Given the description of an element on the screen output the (x, y) to click on. 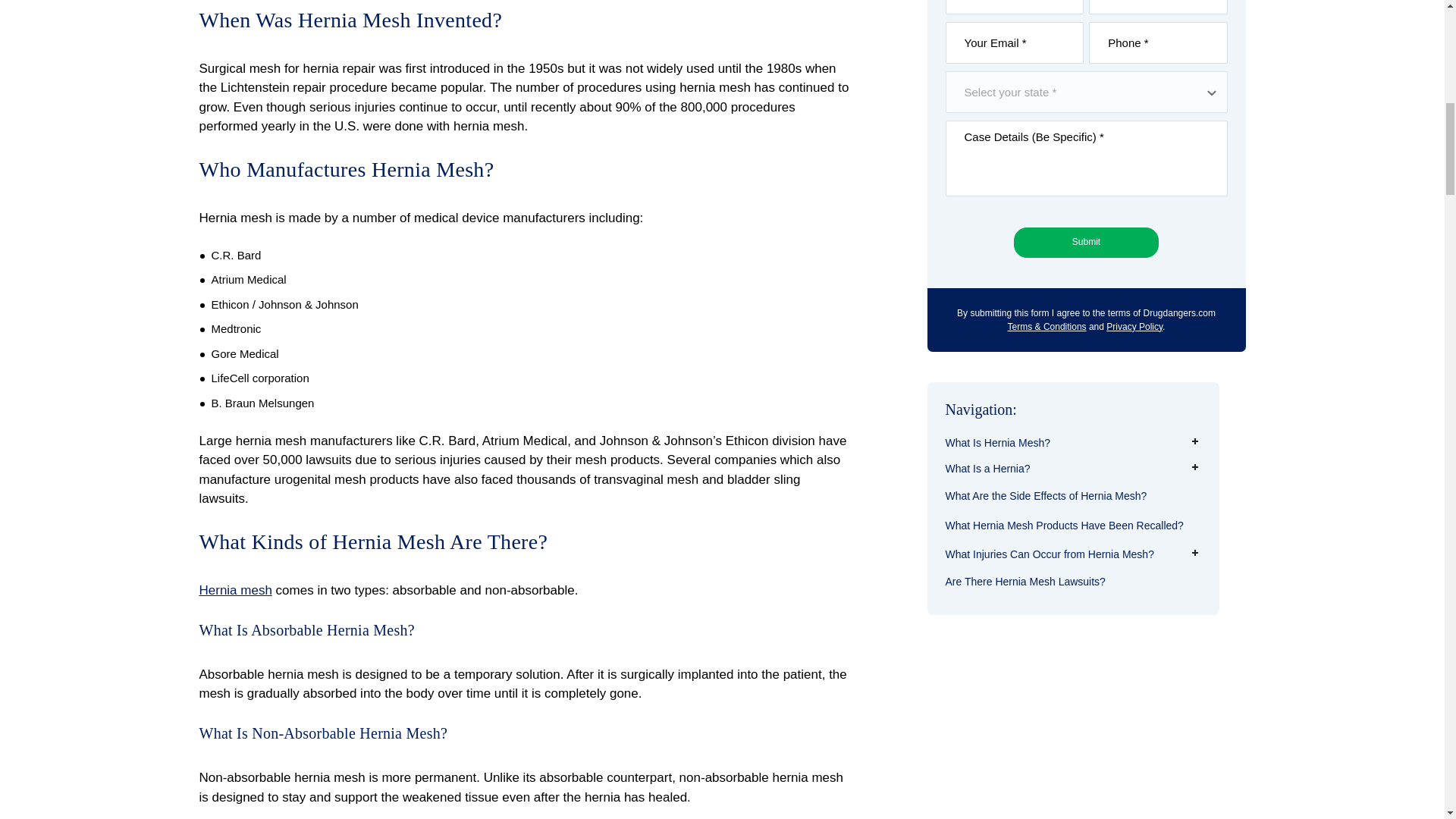
Hernia mesh (234, 590)
Submit (1085, 242)
